Given the description of an element on the screen output the (x, y) to click on. 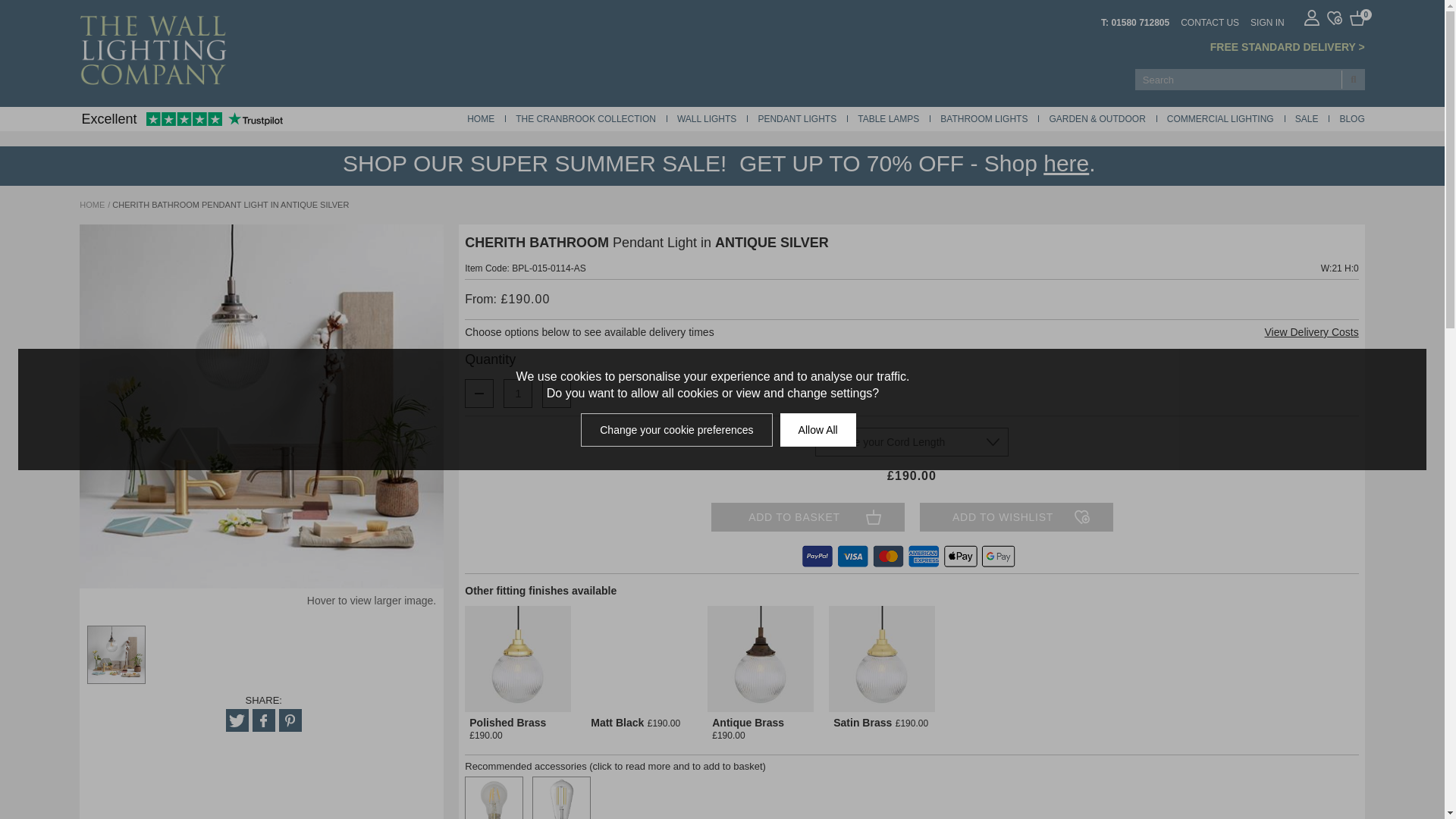
TABLE LAMPS (887, 118)
Add to wishlist (1015, 516)
PENDANT LIGHTS (796, 118)
HOME (481, 118)
SIGN IN (1267, 21)
Allow All (818, 429)
Add to Basket (807, 516)
BLOG (1351, 118)
WALL LIGHTS (706, 118)
1 (517, 393)
T: 01580 712805 (1134, 21)
THE CRANBROOK COLLECTION (585, 118)
BATHROOM LIGHTS (983, 118)
CONTACT US (1209, 21)
SALE (1307, 118)
